Given the description of an element on the screen output the (x, y) to click on. 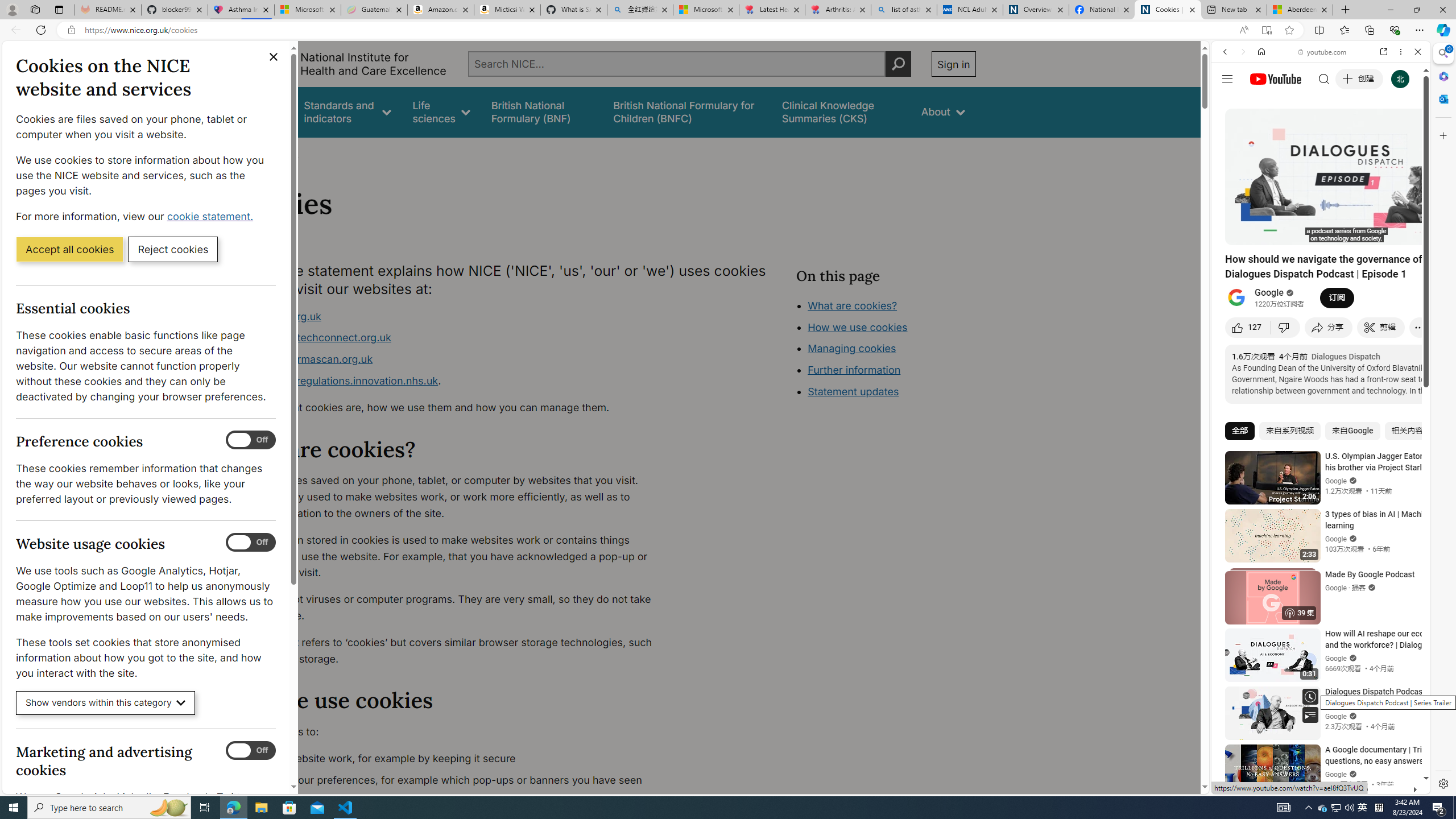
Further information (854, 369)
Music (1320, 309)
Show More Music (1390, 310)
Google (1320, 281)
Dialogues Dispatch (1345, 356)
www.nice.org.uk (452, 316)
